Given the description of an element on the screen output the (x, y) to click on. 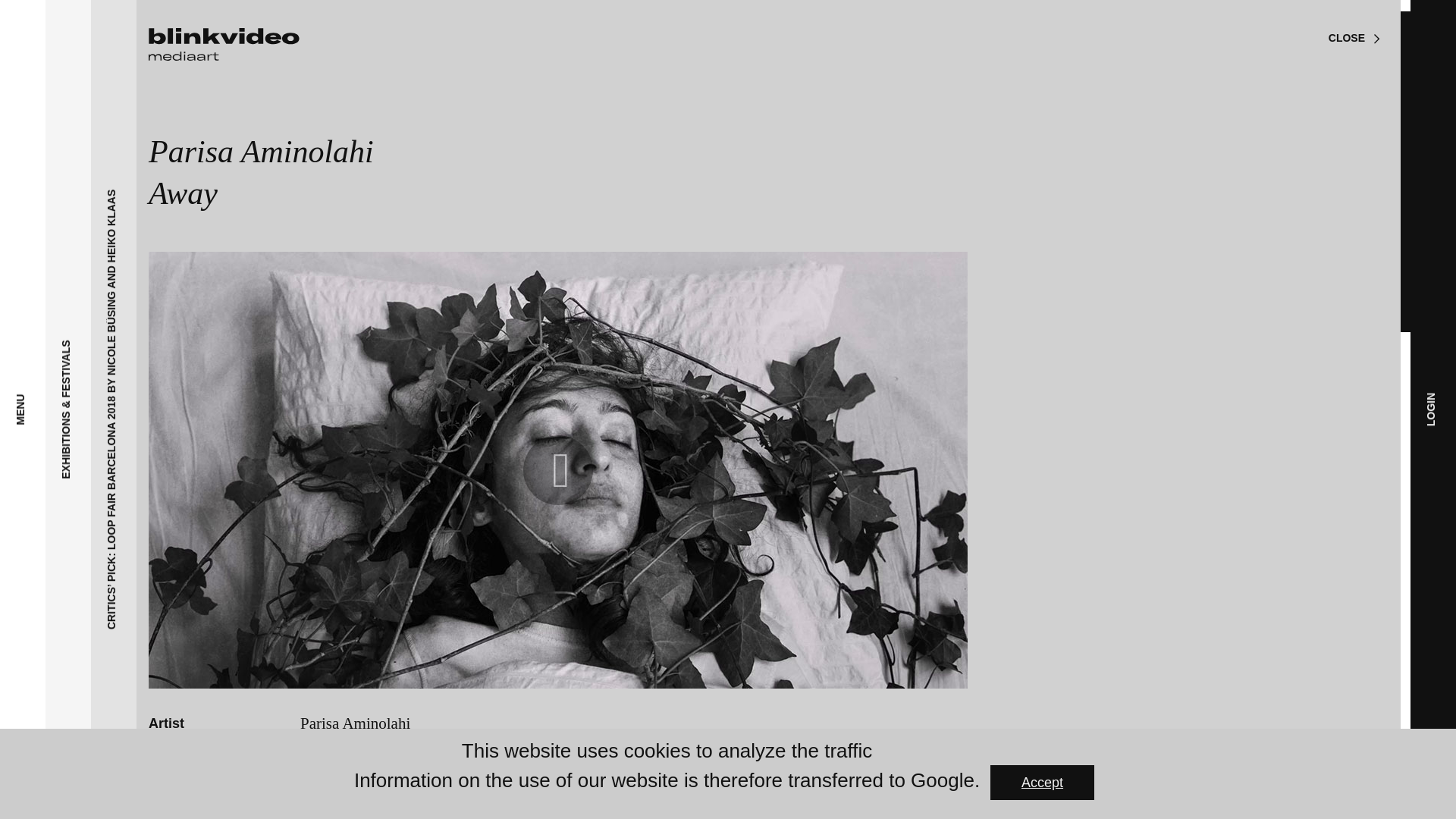
Accept (1042, 782)
Galleries (115, 302)
Artists (101, 253)
About (97, 350)
Featured Projects (173, 205)
